Given the description of an element on the screen output the (x, y) to click on. 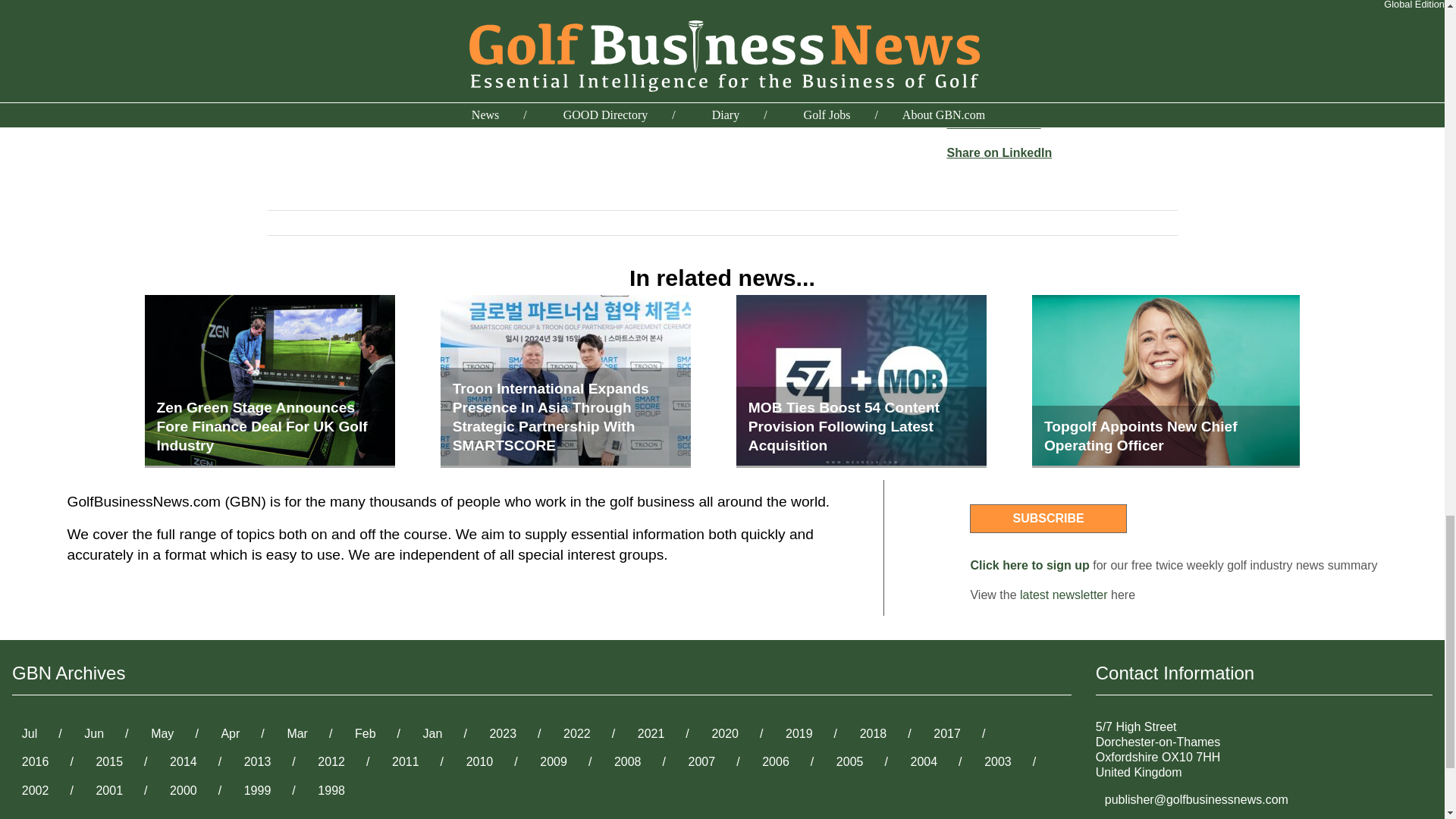
Connect with us on LinkedIn (143, 814)
latest newsletter (1064, 594)
SUBSCRIBE (1047, 518)
Follow us on Twitter (57, 814)
May (162, 733)
Share on LinkedIn (998, 151)
Topgolf Appoints New Chief Operating Officer (1166, 380)
Jun (94, 733)
Share on Twitter (993, 123)
Jul (29, 733)
Click here to sign up (1029, 564)
